Given the description of an element on the screen output the (x, y) to click on. 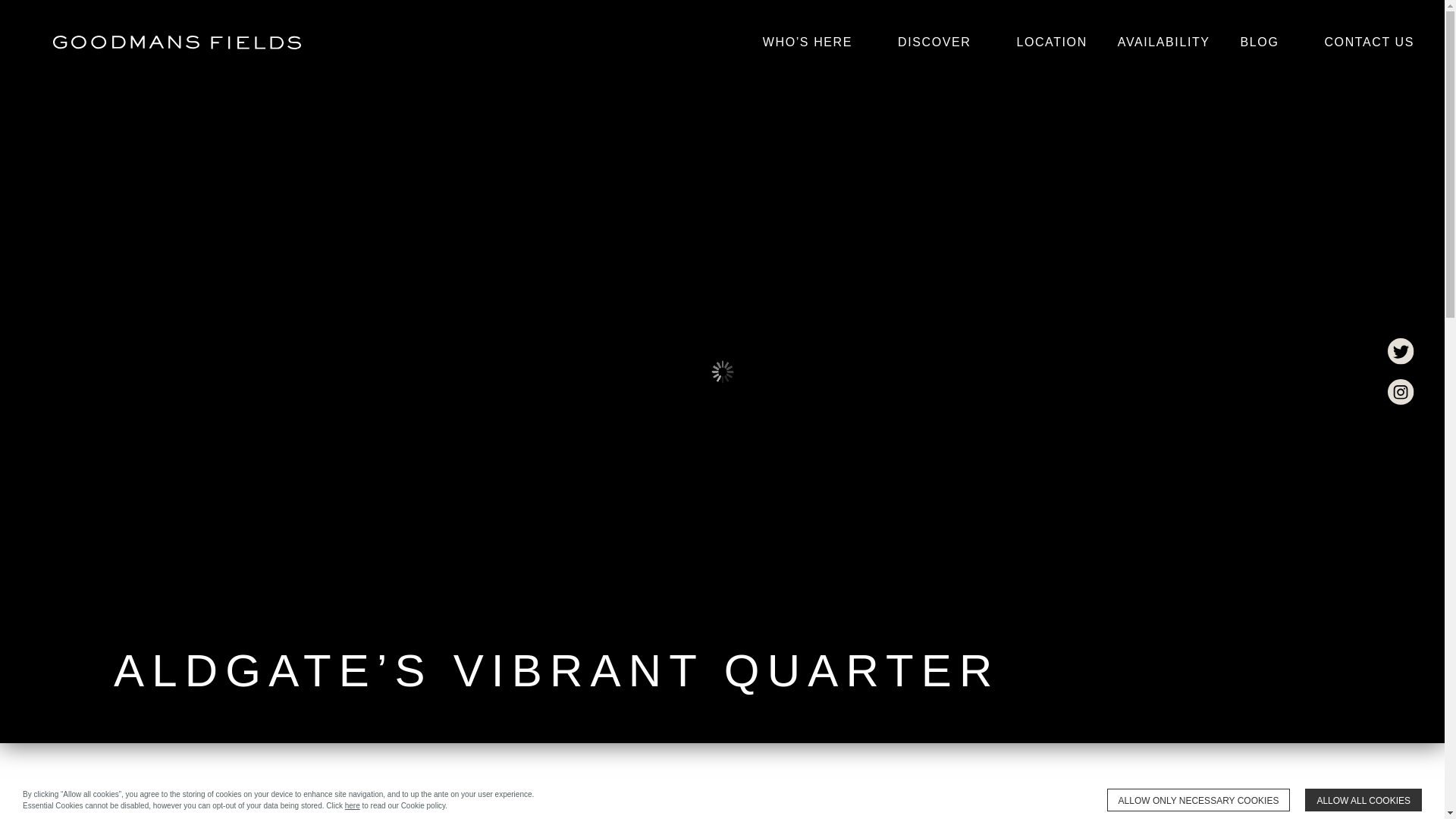
here (352, 805)
DISCOVER (934, 42)
LOCATION (1051, 42)
AVAILABILITY (1163, 42)
ALLOW ONLY NECESSARY COOKIES (1198, 799)
ALLOW ALL COOKIES (1363, 799)
BLOG (1259, 42)
